Given the description of an element on the screen output the (x, y) to click on. 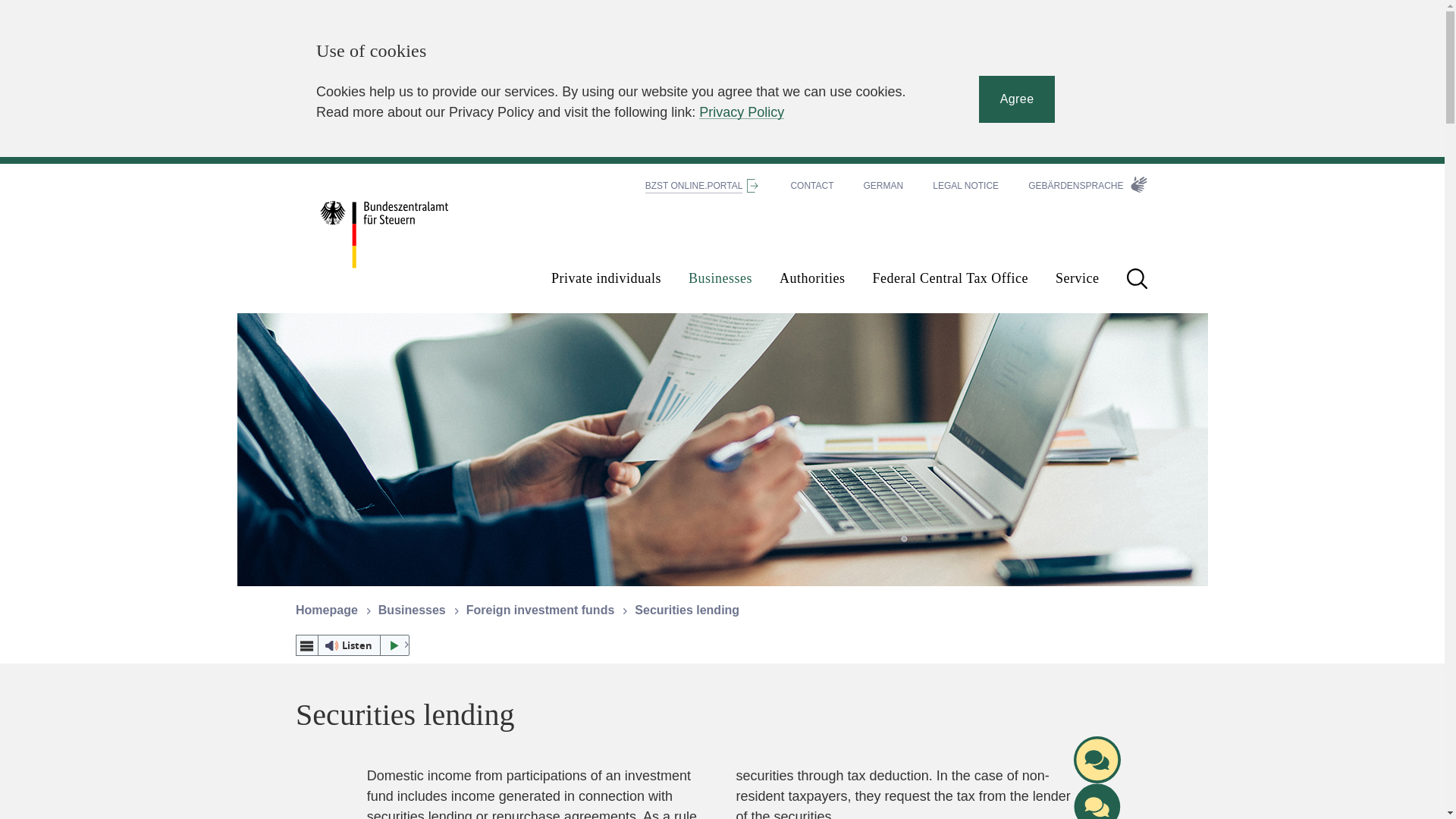
Privacy Policy (741, 111)
Privacy Policy (741, 111)
Agree (1016, 99)
GERMAN (883, 185)
Switch to german website (883, 185)
to homepage (407, 234)
